Given the description of an element on the screen output the (x, y) to click on. 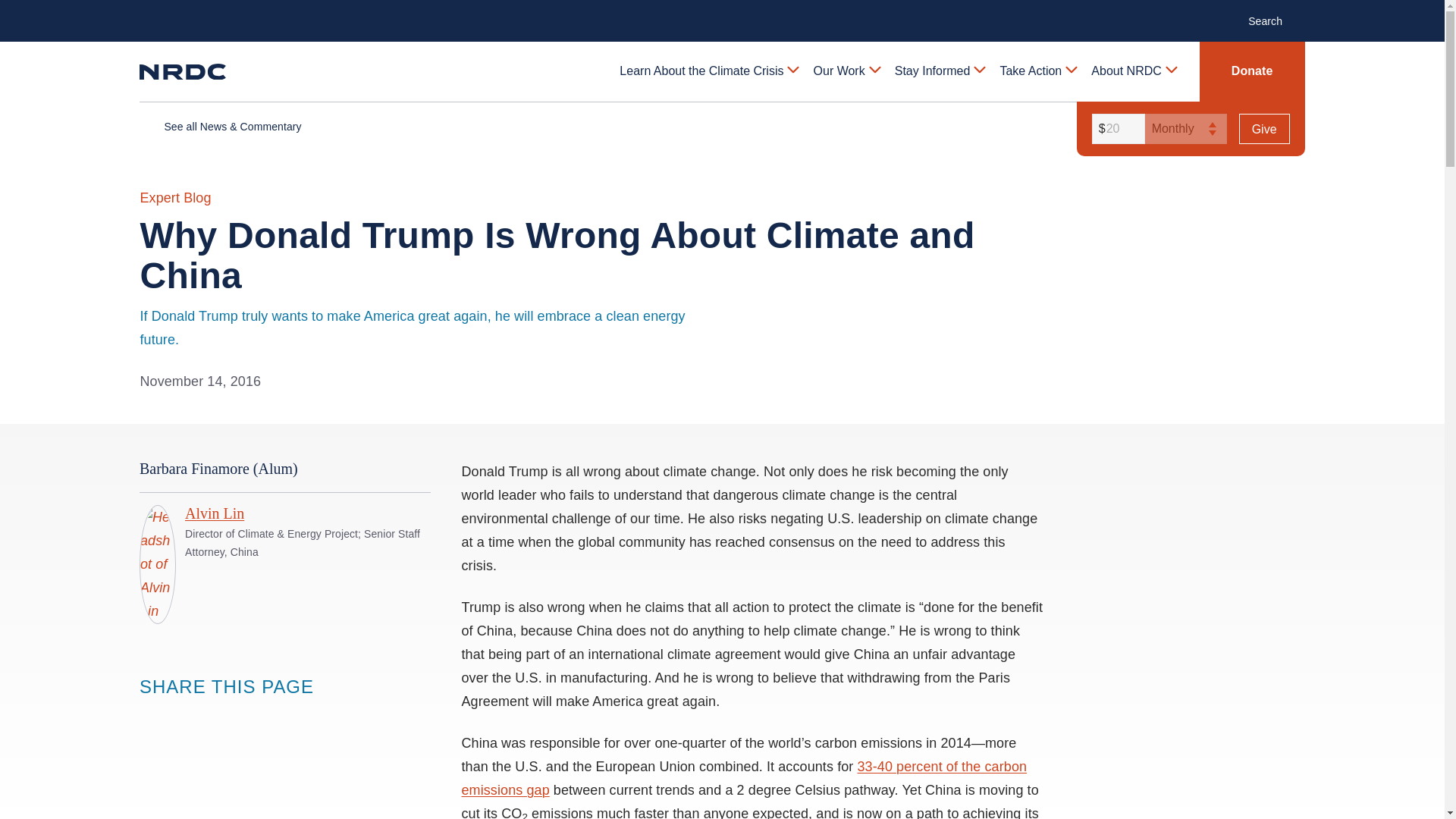
Search (1272, 19)
Skip to main content (721, 12)
Share this page block (180, 715)
20 (1116, 128)
Share this page block (149, 715)
Our Work (846, 71)
Stay Informed (939, 71)
Share this page block (210, 715)
Learn About the Climate Crisis (707, 71)
